Given the description of an element on the screen output the (x, y) to click on. 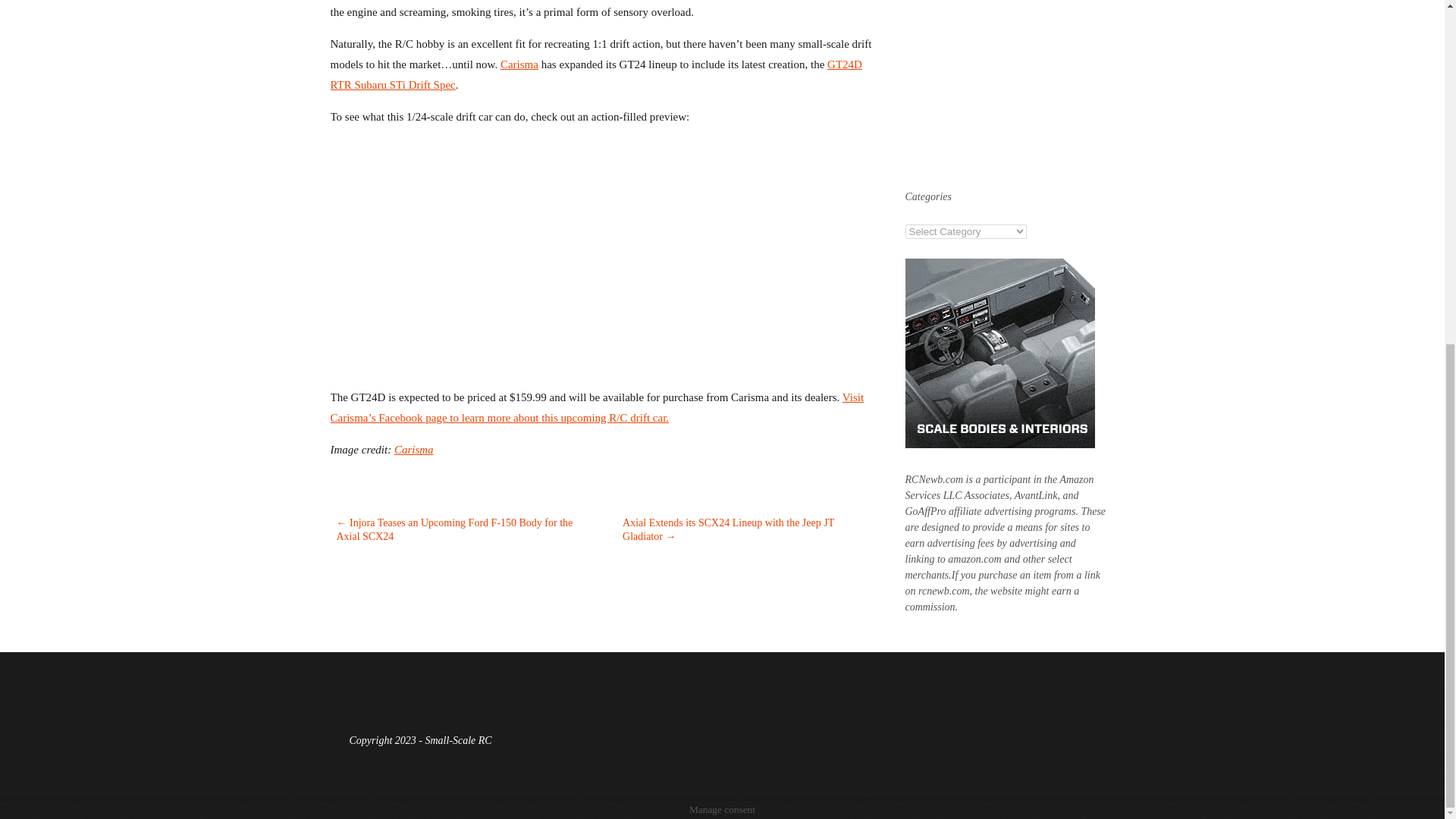
Carisma (519, 64)
GT24D RTR Subaru STi Drift Spec (595, 74)
Carisma (413, 449)
